Given the description of an element on the screen output the (x, y) to click on. 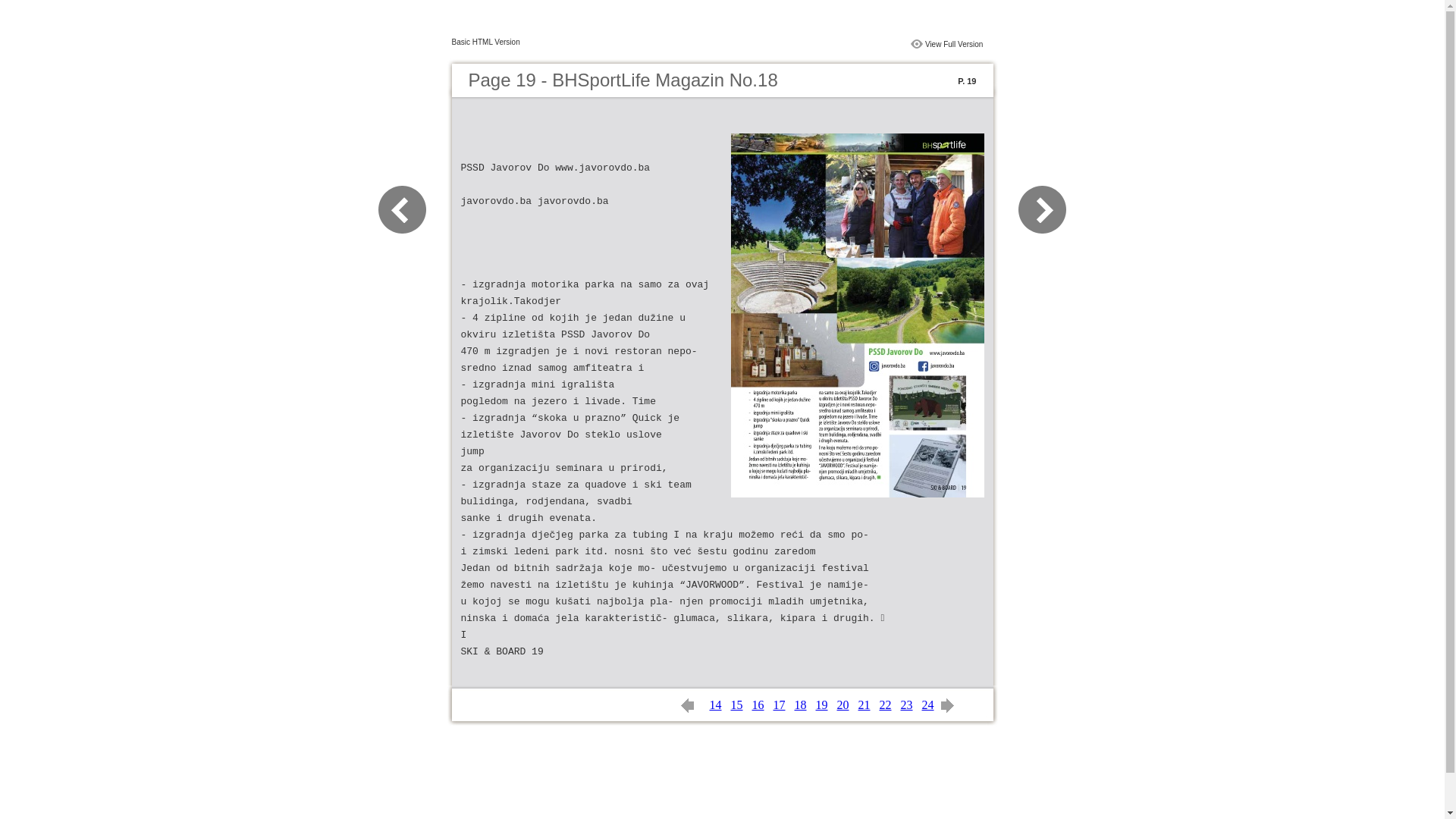
19 Element type: text (821, 704)
14 Element type: text (715, 704)
20 Element type: text (843, 704)
15 Element type: text (737, 704)
22 Element type: text (885, 704)
23 Element type: text (906, 704)
18 Element type: text (800, 704)
17 Element type: text (779, 704)
View Full Version Element type: text (954, 43)
16 Element type: text (758, 704)
21 Element type: text (864, 704)
24 Element type: text (928, 704)
